Given the description of an element on the screen output the (x, y) to click on. 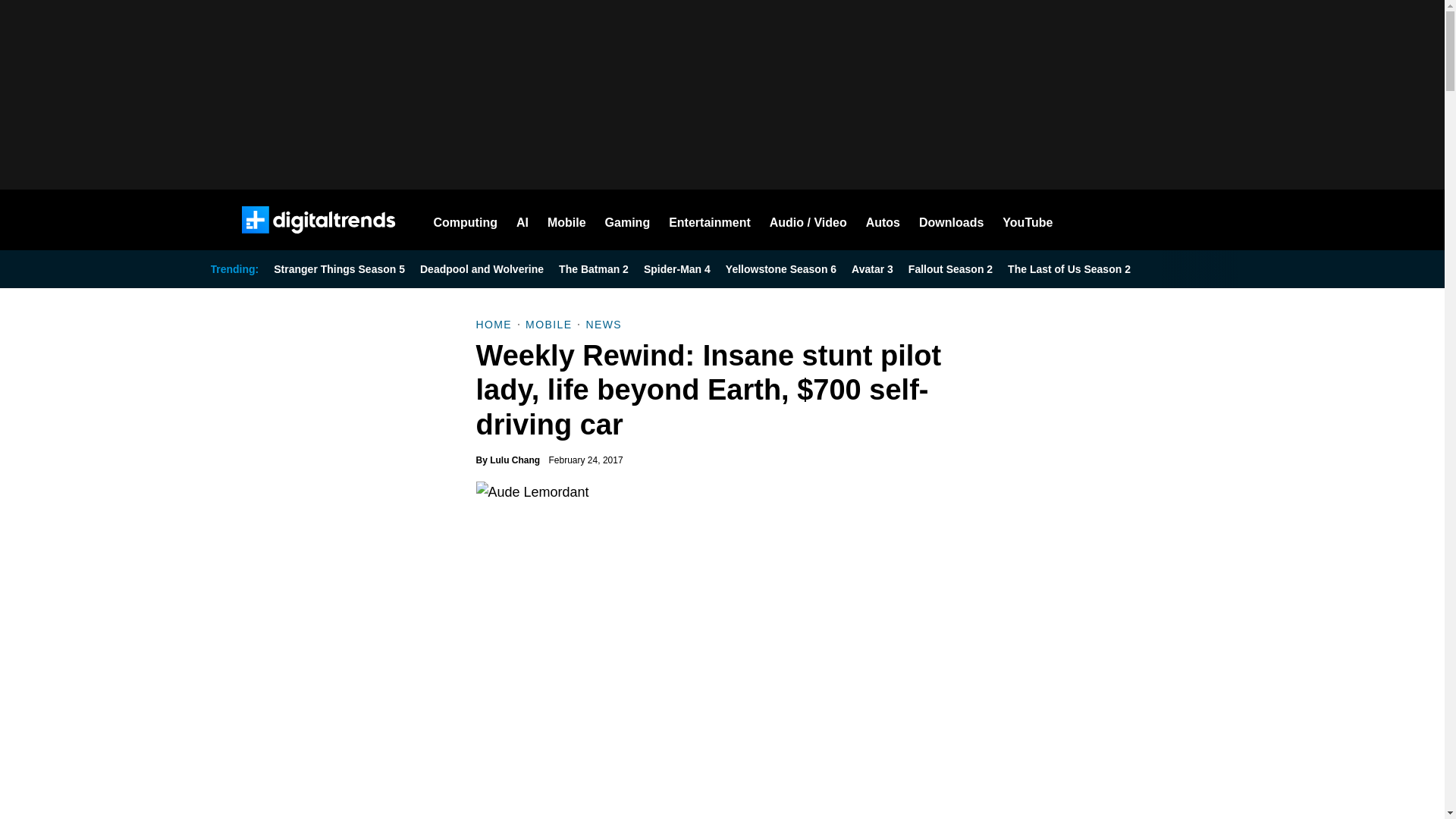
Entertainment (709, 219)
Downloads (951, 219)
Computing (465, 219)
